Given the description of an element on the screen output the (x, y) to click on. 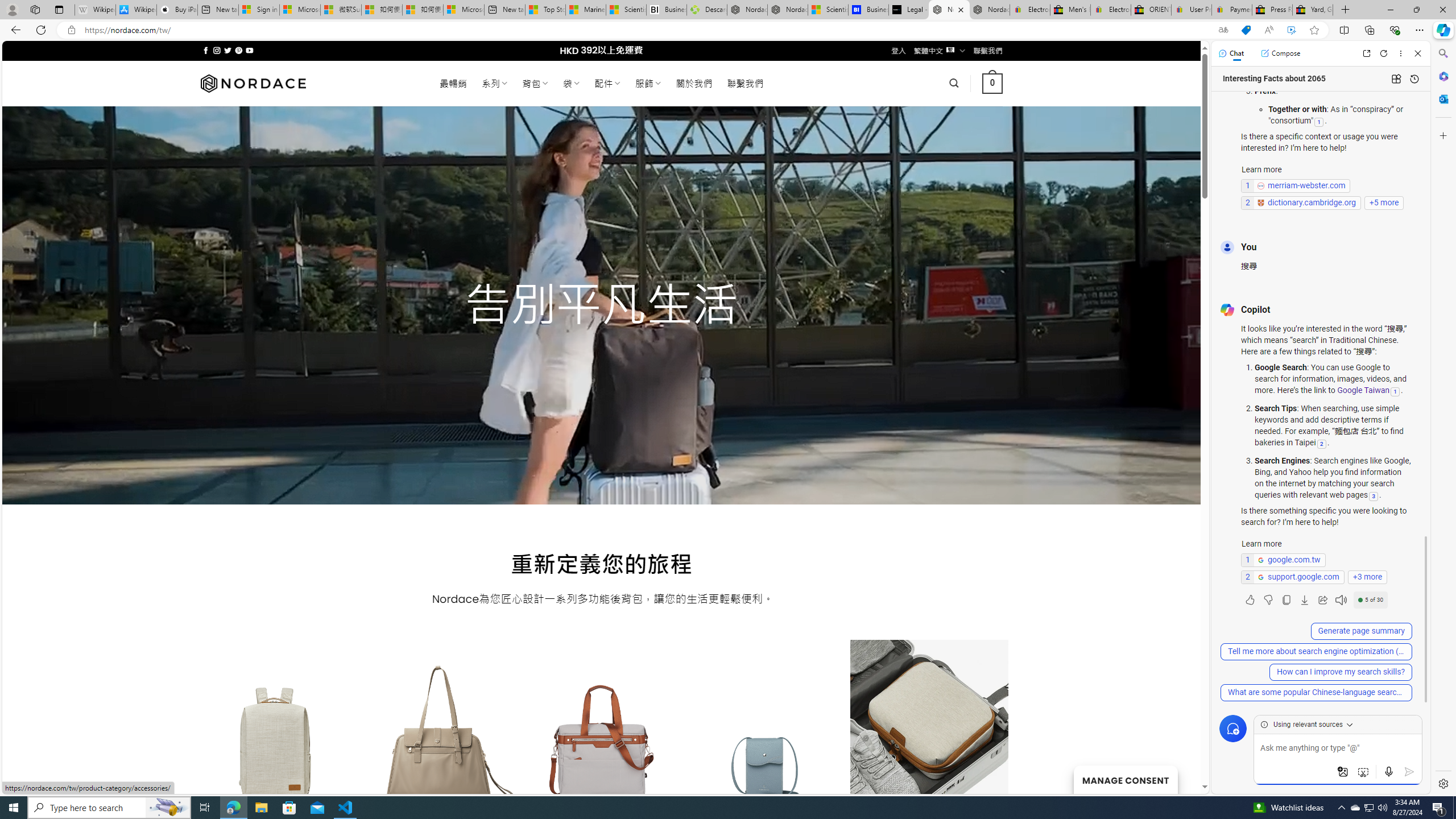
Payments Terms of Use | eBay.com (1231, 9)
